Given the description of an element on the screen output the (x, y) to click on. 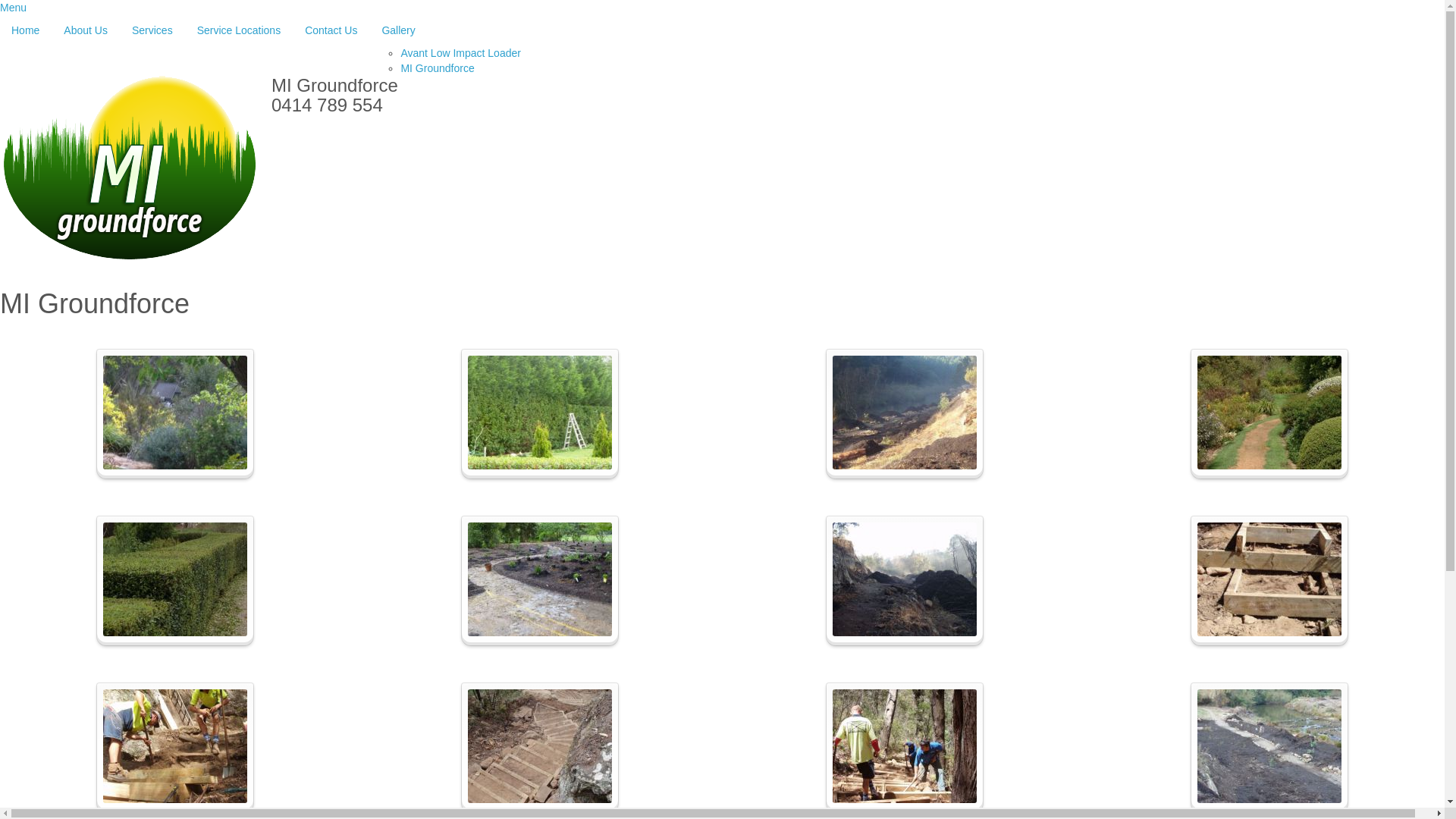
Service Locations Element type: text (238, 30)
MI Groundforce Element type: text (436, 68)
Menu Element type: text (13, 7)
Services Element type: text (152, 30)
Avant Low Impact Loader Element type: text (460, 53)
Contact Us Element type: text (330, 30)
About Us Element type: text (85, 30)
Home Element type: text (25, 30)
Gallery Element type: text (445, 30)
